Given the description of an element on the screen output the (x, y) to click on. 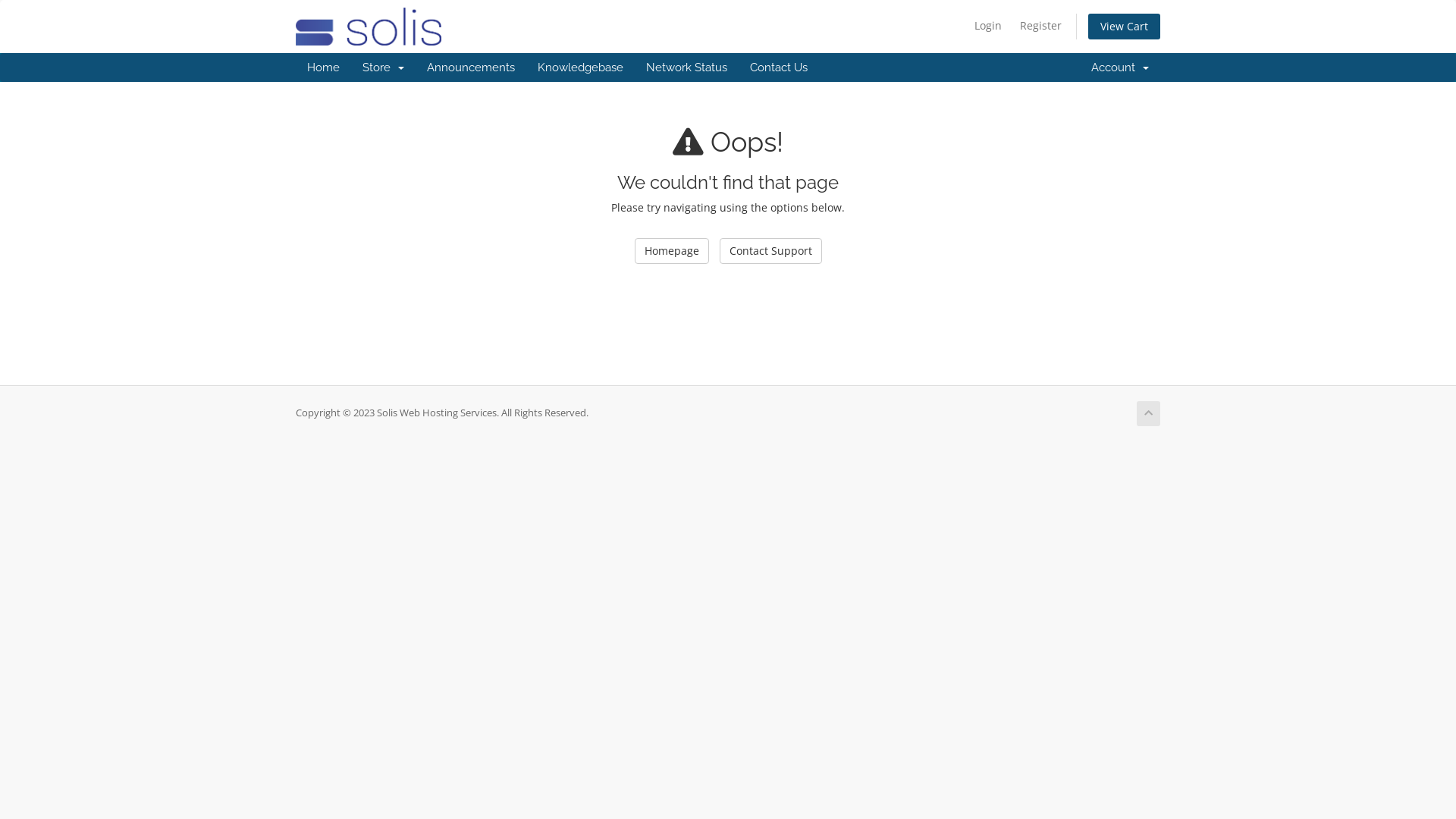
Home Element type: text (323, 67)
View Cart Element type: text (1124, 26)
Knowledgebase Element type: text (580, 67)
Homepage Element type: text (670, 250)
Store   Element type: text (383, 67)
Contact Us Element type: text (778, 67)
Login Element type: text (987, 25)
Account   Element type: text (1119, 67)
Contact Support Element type: text (769, 250)
Network Status Element type: text (686, 67)
Register Element type: text (1040, 25)
Announcements Element type: text (470, 67)
